Given the description of an element on the screen output the (x, y) to click on. 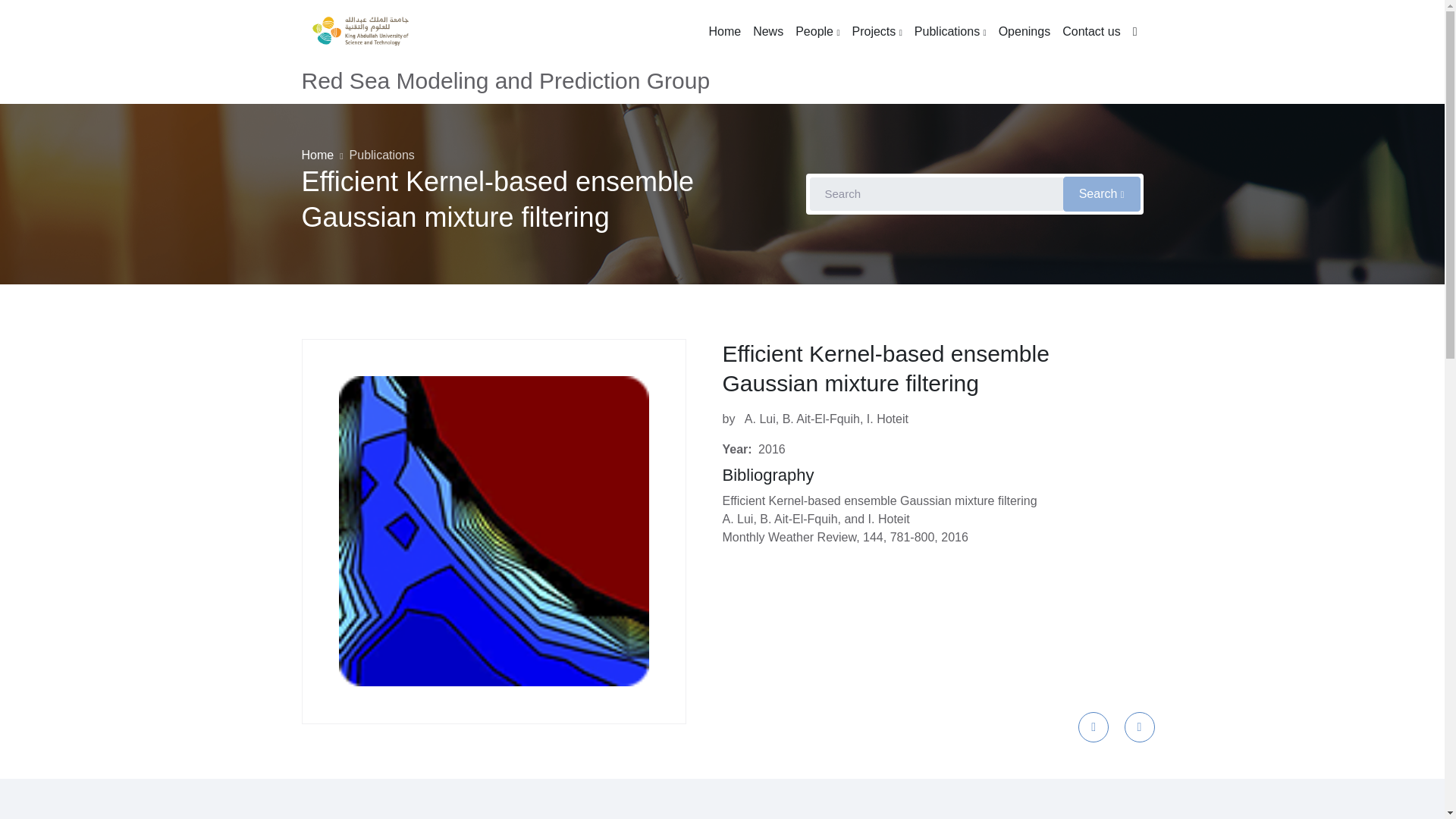
Openings (1024, 31)
Publications (381, 154)
Search (1101, 193)
Home (317, 154)
Projects (876, 31)
Contact us (1091, 31)
Publications (950, 31)
Search input (935, 193)
